Given the description of an element on the screen output the (x, y) to click on. 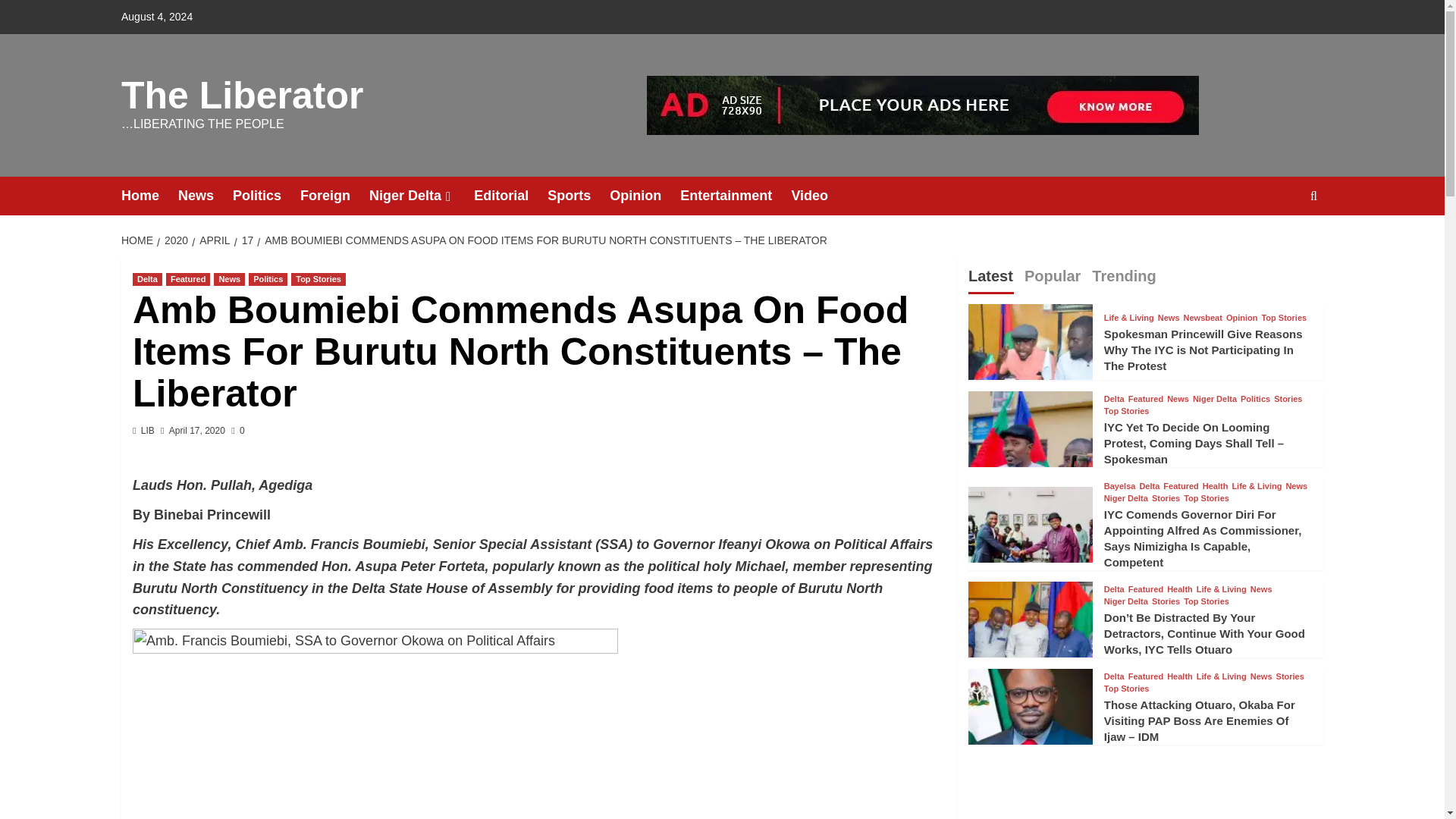
Opinion (644, 195)
Home (148, 195)
Search (1278, 243)
HOME (138, 240)
News (229, 278)
April 17, 2020 (196, 430)
Politics (265, 195)
APRIL (212, 240)
Video (818, 195)
